Given the description of an element on the screen output the (x, y) to click on. 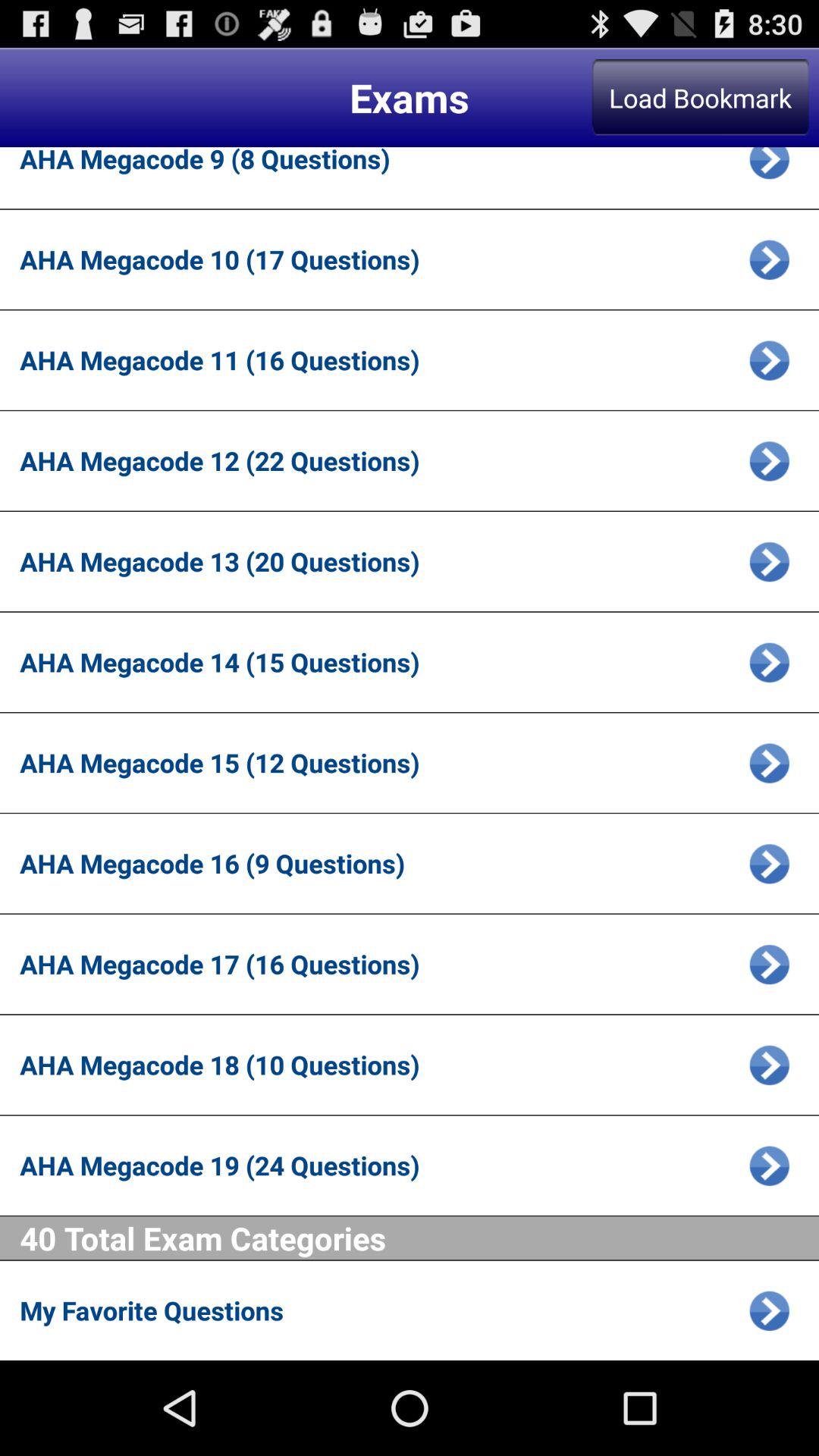
view (769, 1064)
